Given the description of an element on the screen output the (x, y) to click on. 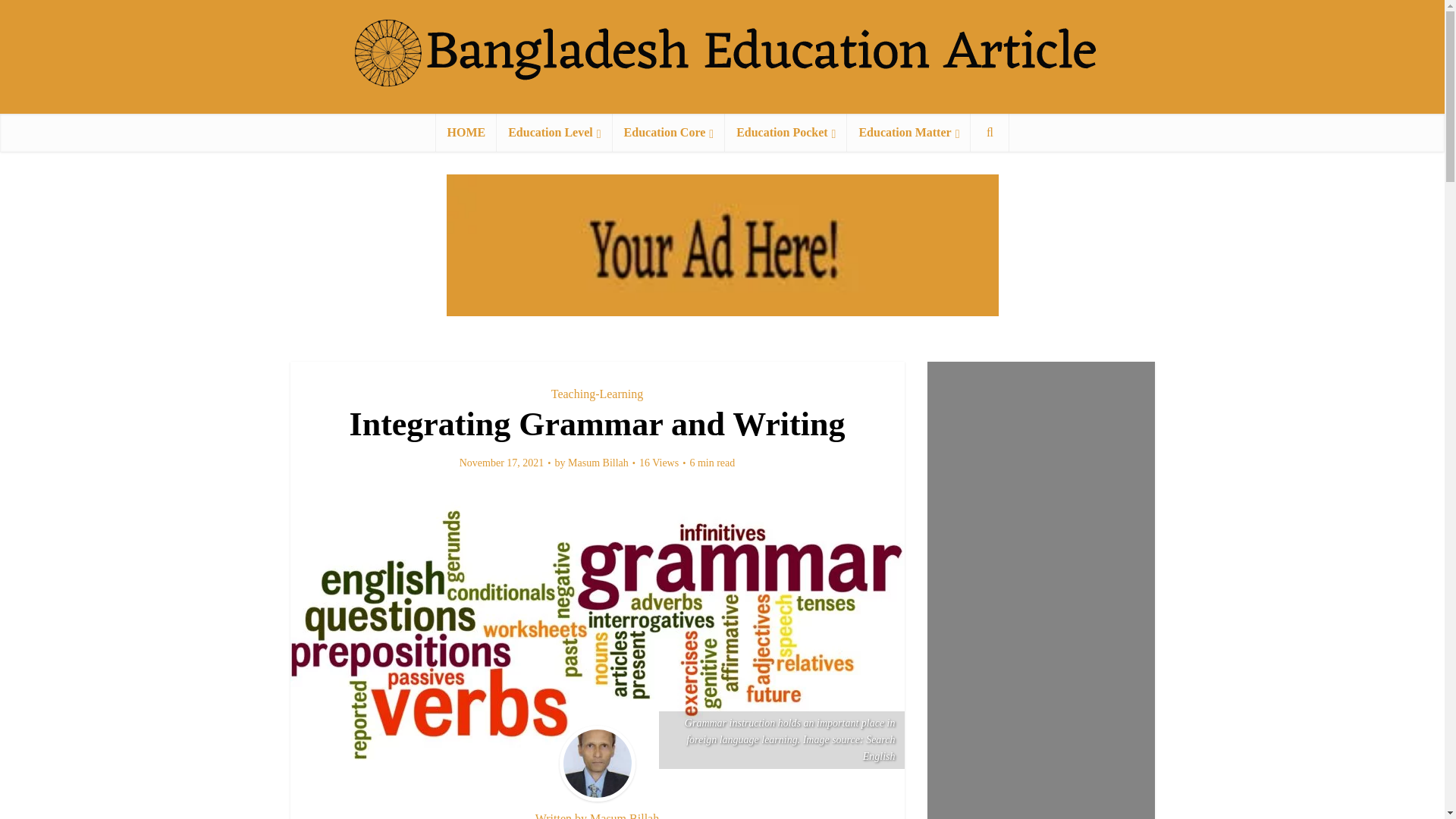
HOME (465, 132)
Education Pocket (786, 132)
Education Matter (909, 132)
Education Level (553, 132)
Education Core (668, 132)
